Given the description of an element on the screen output the (x, y) to click on. 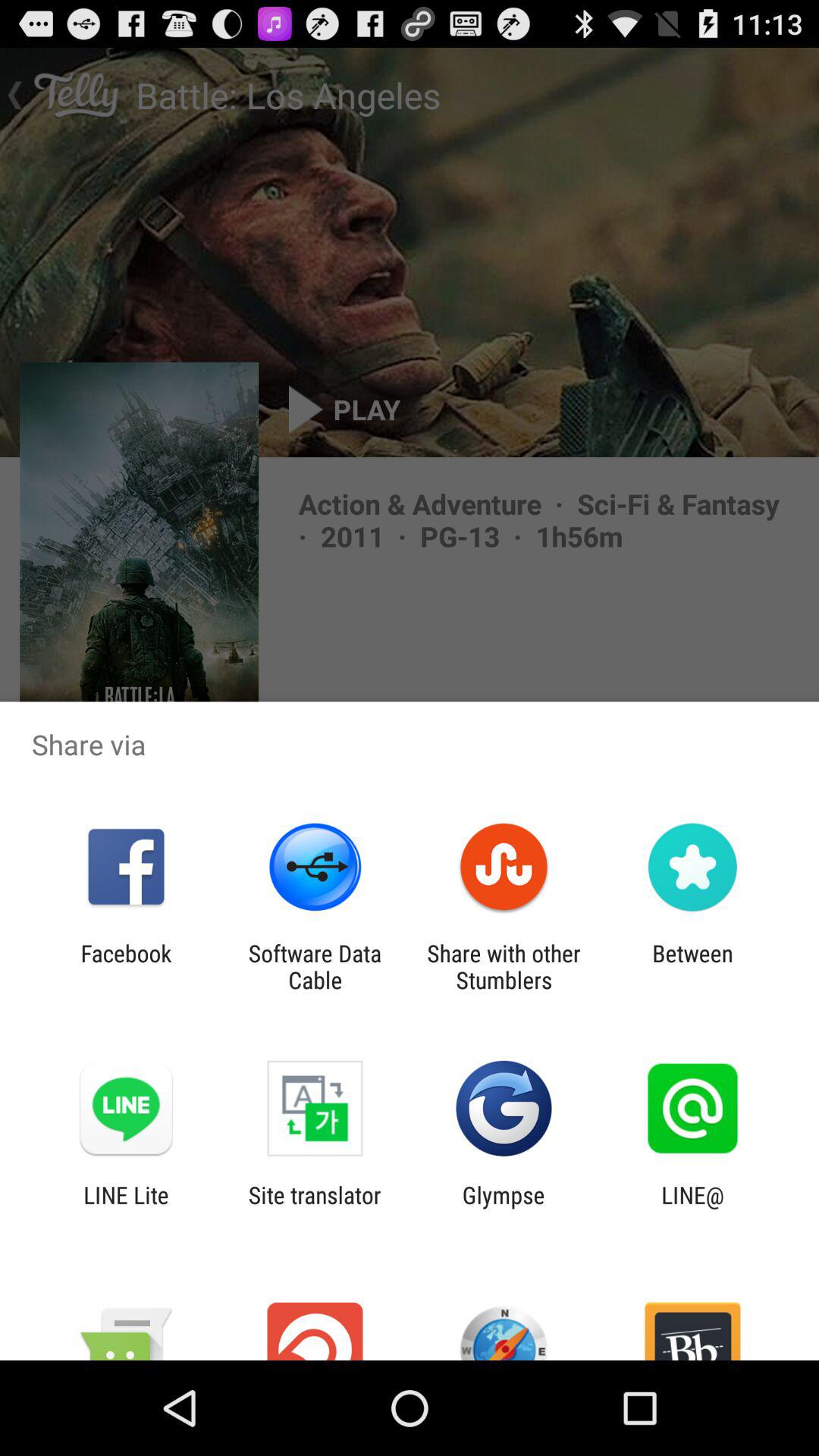
flip until between (692, 966)
